Given the description of an element on the screen output the (x, y) to click on. 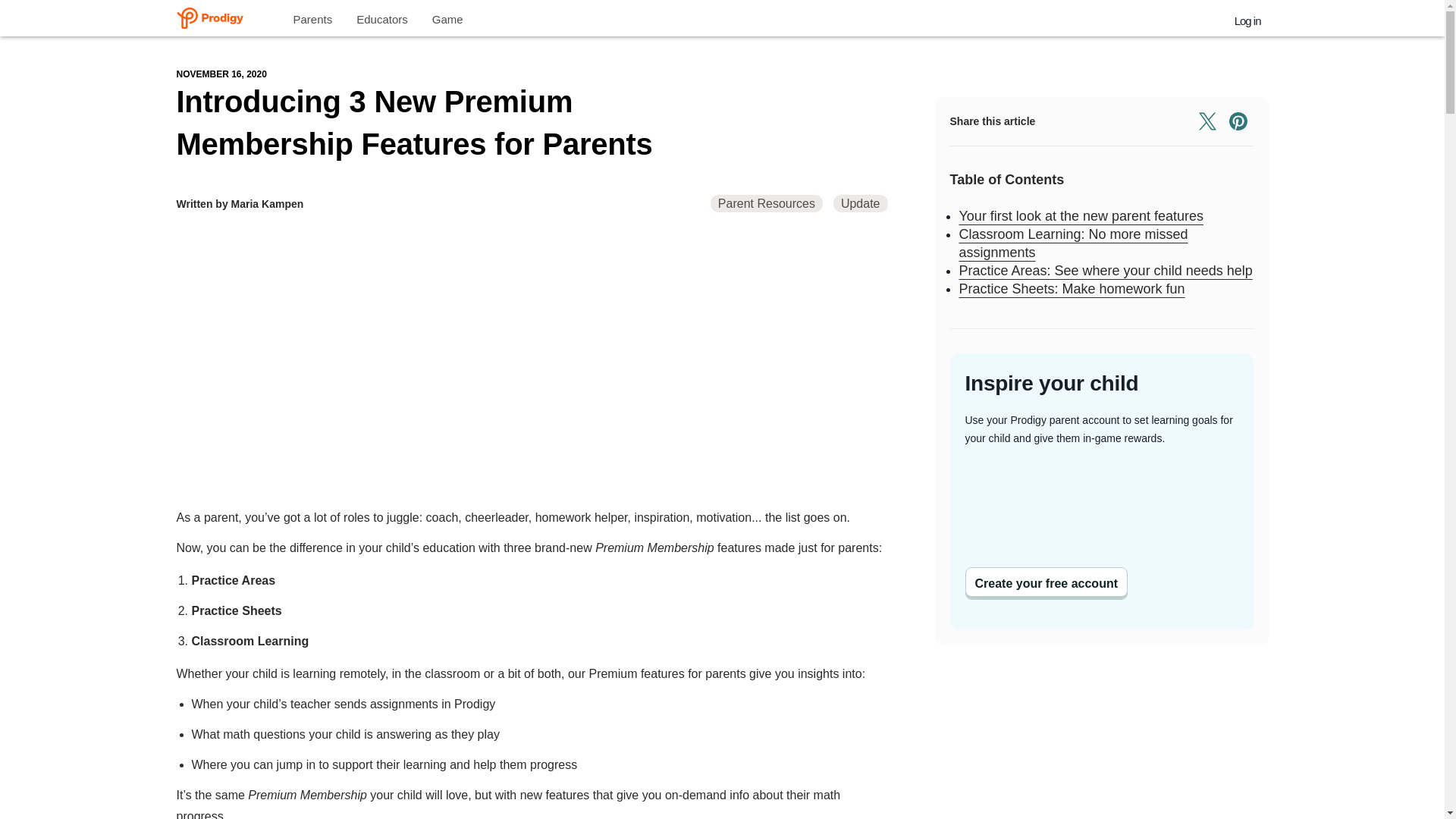
Practice Areas: See where your child needs help (1105, 270)
Log in (1247, 16)
Educators (381, 18)
Parent Resources (766, 201)
Parents (311, 18)
Practice Sheets: Make homework fun (1071, 288)
Classroom Learning: No more missed assignments (1073, 243)
Update (860, 201)
Your first look at the new parent features (1081, 215)
Create your free account (1044, 583)
